Given the description of an element on the screen output the (x, y) to click on. 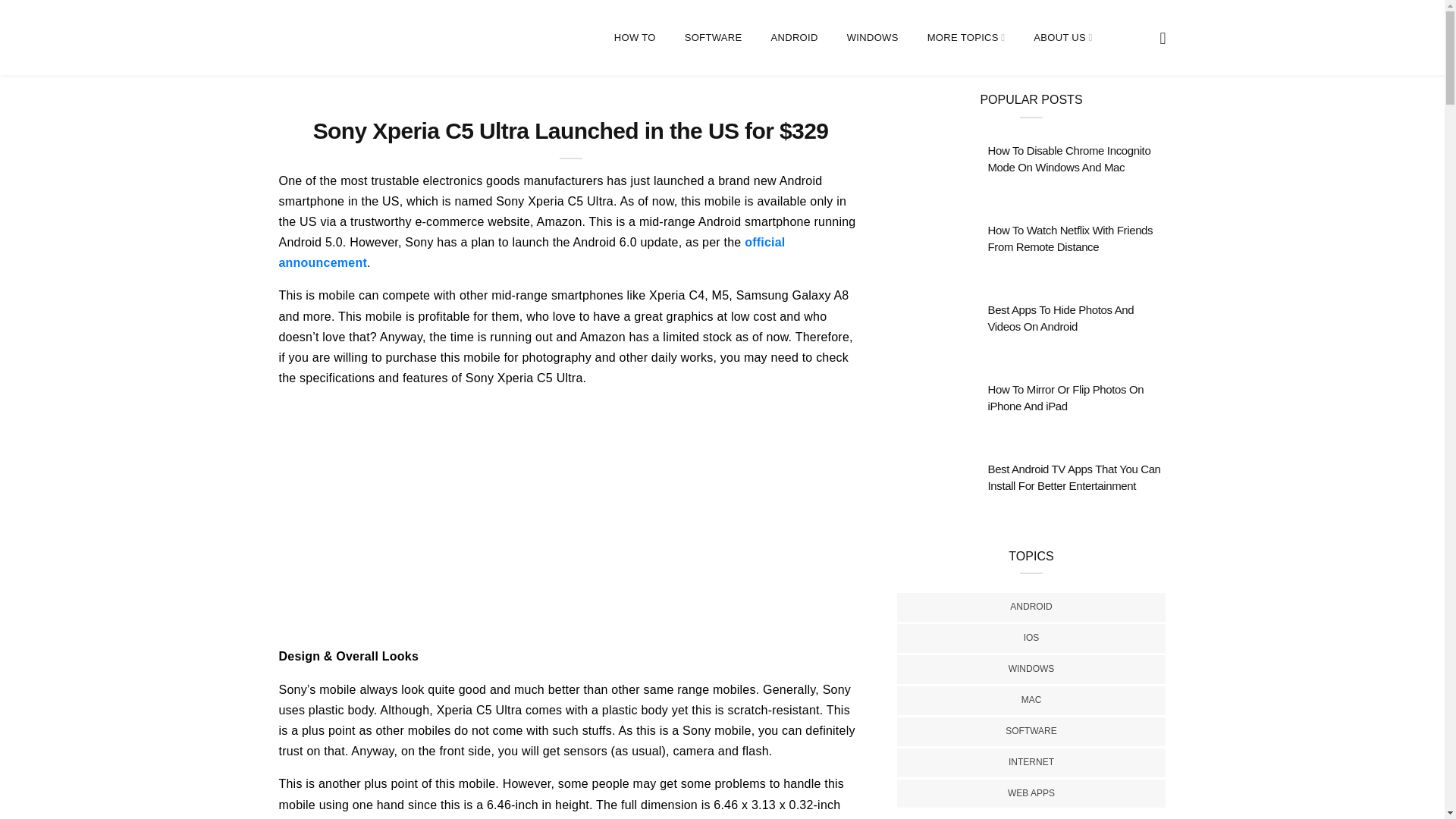
Best Apps To Hide Photos And Videos On Android (1060, 318)
HOW TO (635, 37)
ANDROID (793, 37)
MORE TOPICS (966, 37)
SOFTWARE (713, 37)
official announcement (532, 252)
WINDOWS (872, 37)
How To Watch Netflix With Friends From Remote Distance (1070, 238)
How To Disable Chrome Incognito Mode On Windows And Mac (1068, 159)
ABOUT US (1062, 37)
About Us (966, 37)
